Given the description of an element on the screen output the (x, y) to click on. 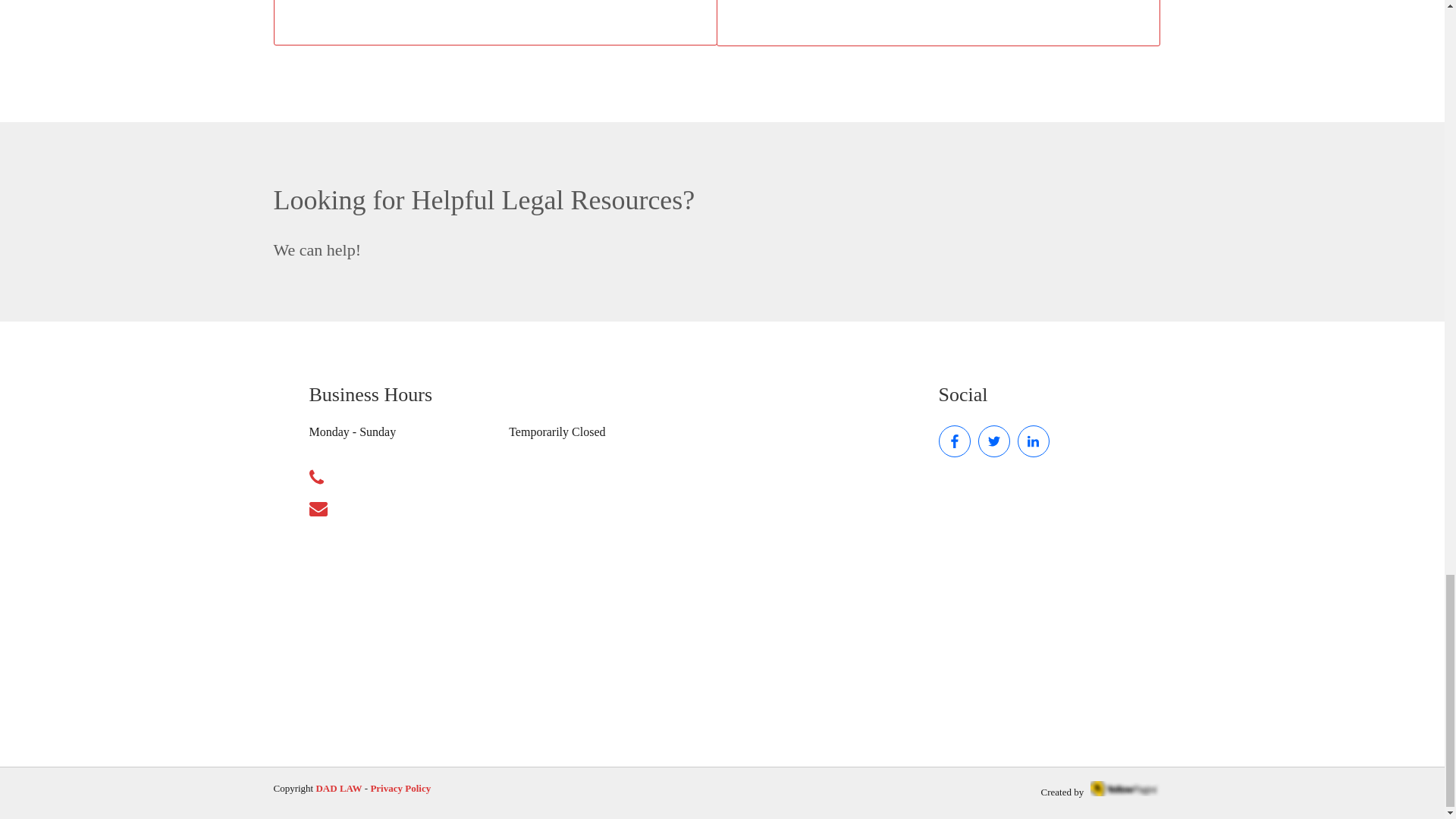
Privacy Policy (399, 788)
DAD LAW (338, 787)
